Given the description of an element on the screen output the (x, y) to click on. 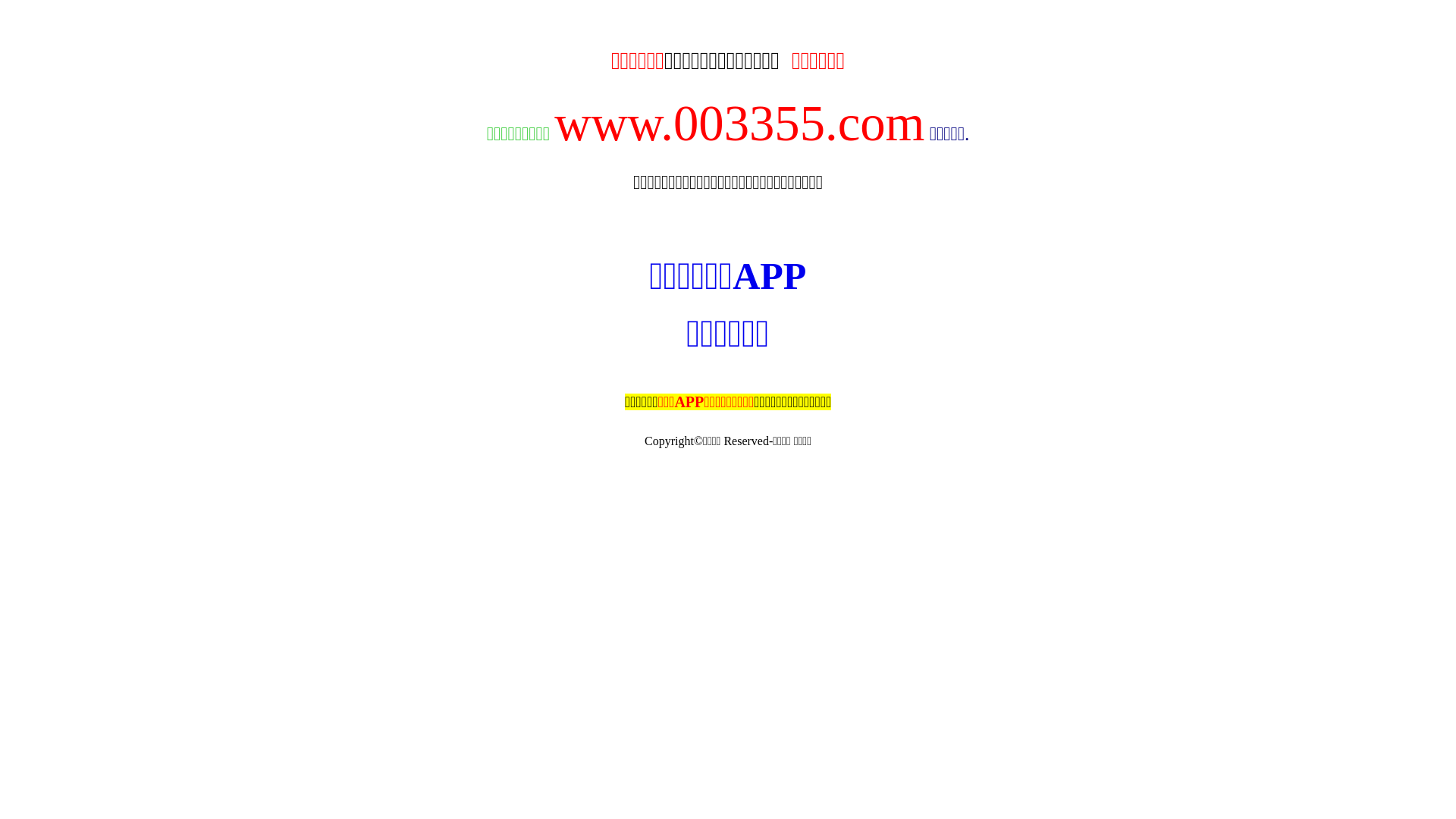
www.003355.com Element type: text (739, 122)
